Given the description of an element on the screen output the (x, y) to click on. 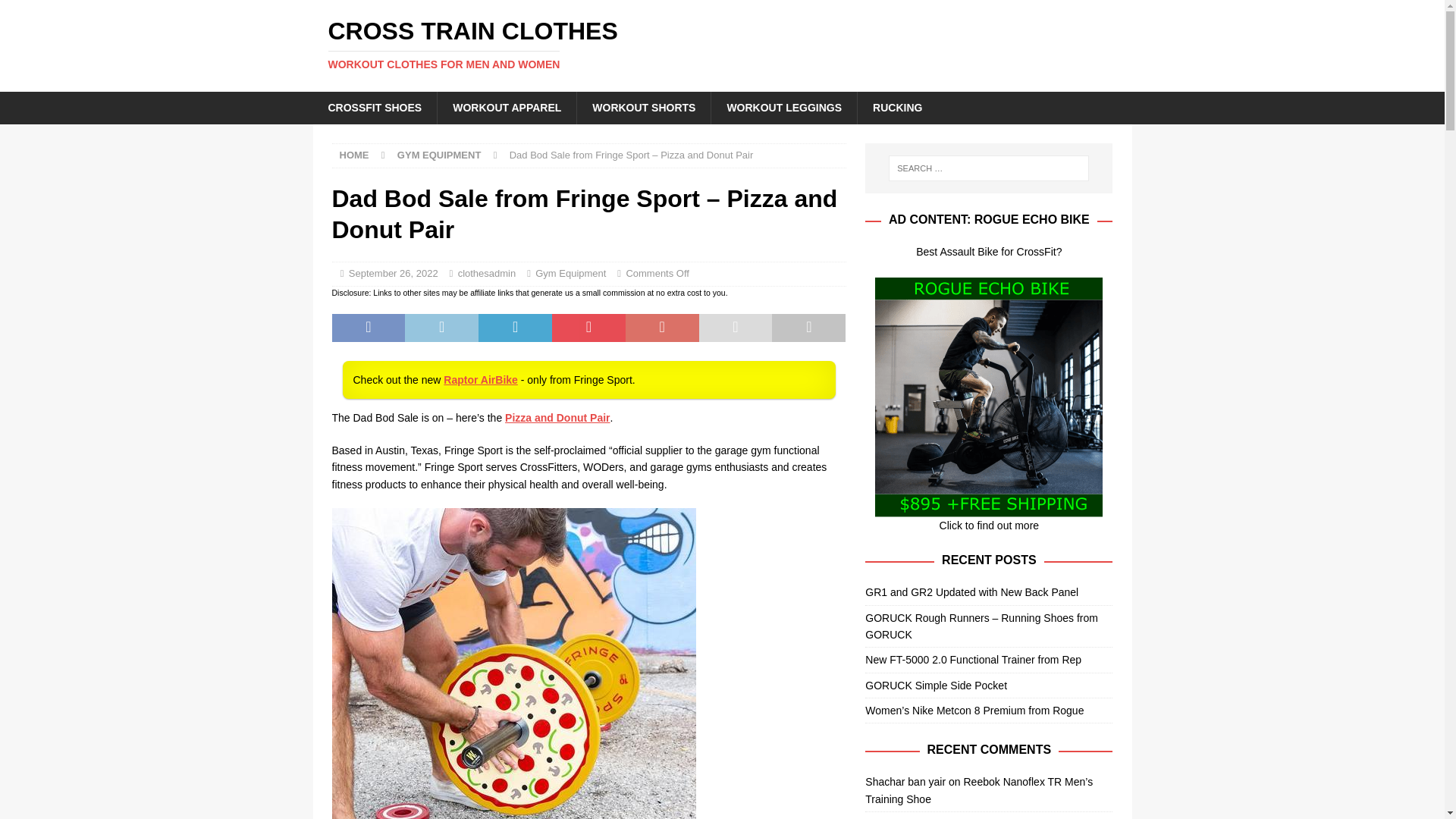
GYM EQUIPMENT (439, 154)
HOME (354, 154)
clothesadmin (487, 273)
CROSSFIT SHOES (374, 107)
Gym Equipment (570, 273)
Cross Train Clothes (721, 44)
September 26, 2022 (393, 273)
WORKOUT LEGGINGS (783, 107)
RUCKING (897, 107)
Raptor AirBike (481, 379)
WORKOUT SHORTS (643, 107)
WORKOUT APPAREL (506, 107)
Pizza and Donut Pair (721, 44)
